Given the description of an element on the screen output the (x, y) to click on. 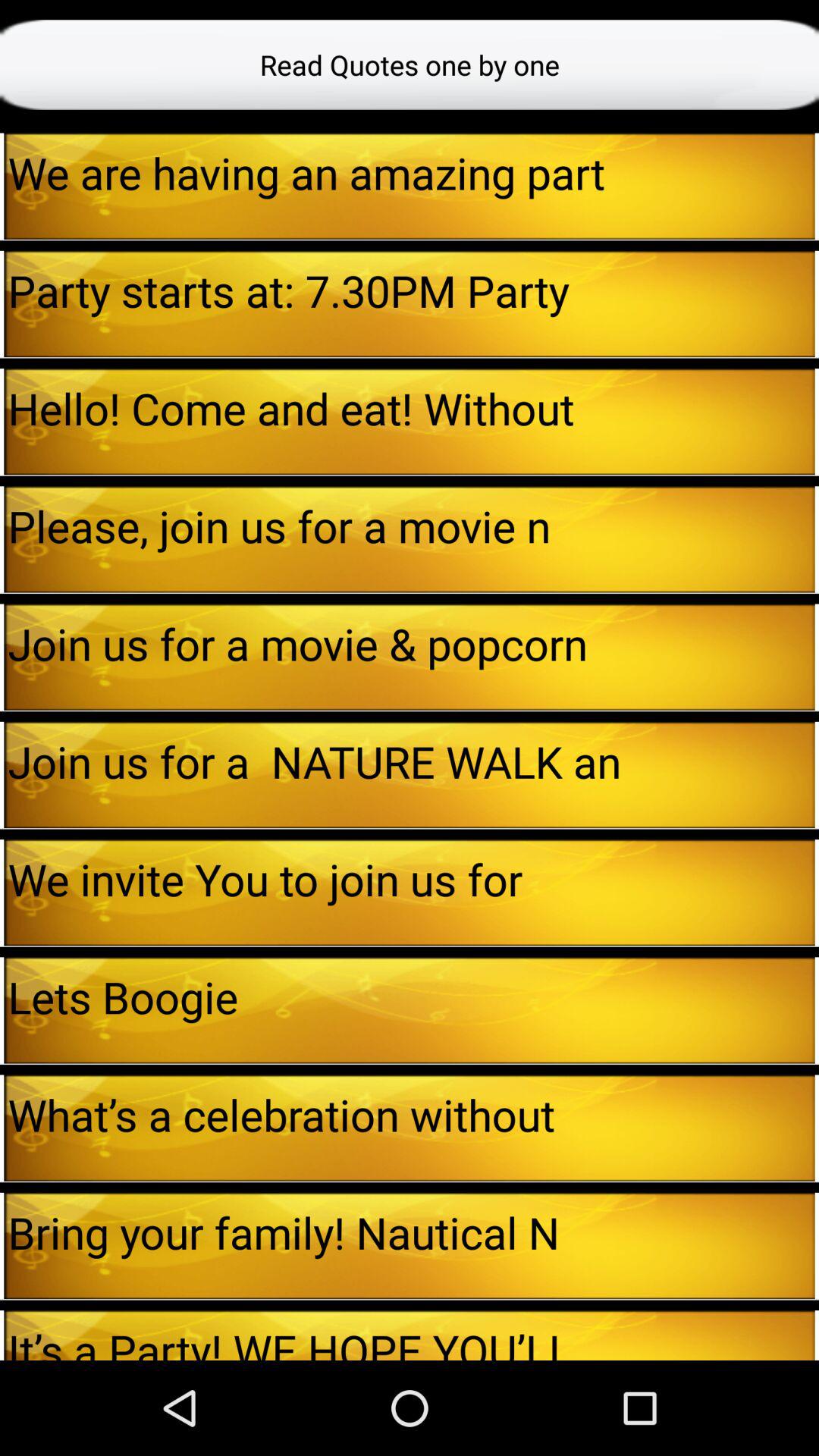
turn off the item below read quotes one icon (1, 186)
